Given the description of an element on the screen output the (x, y) to click on. 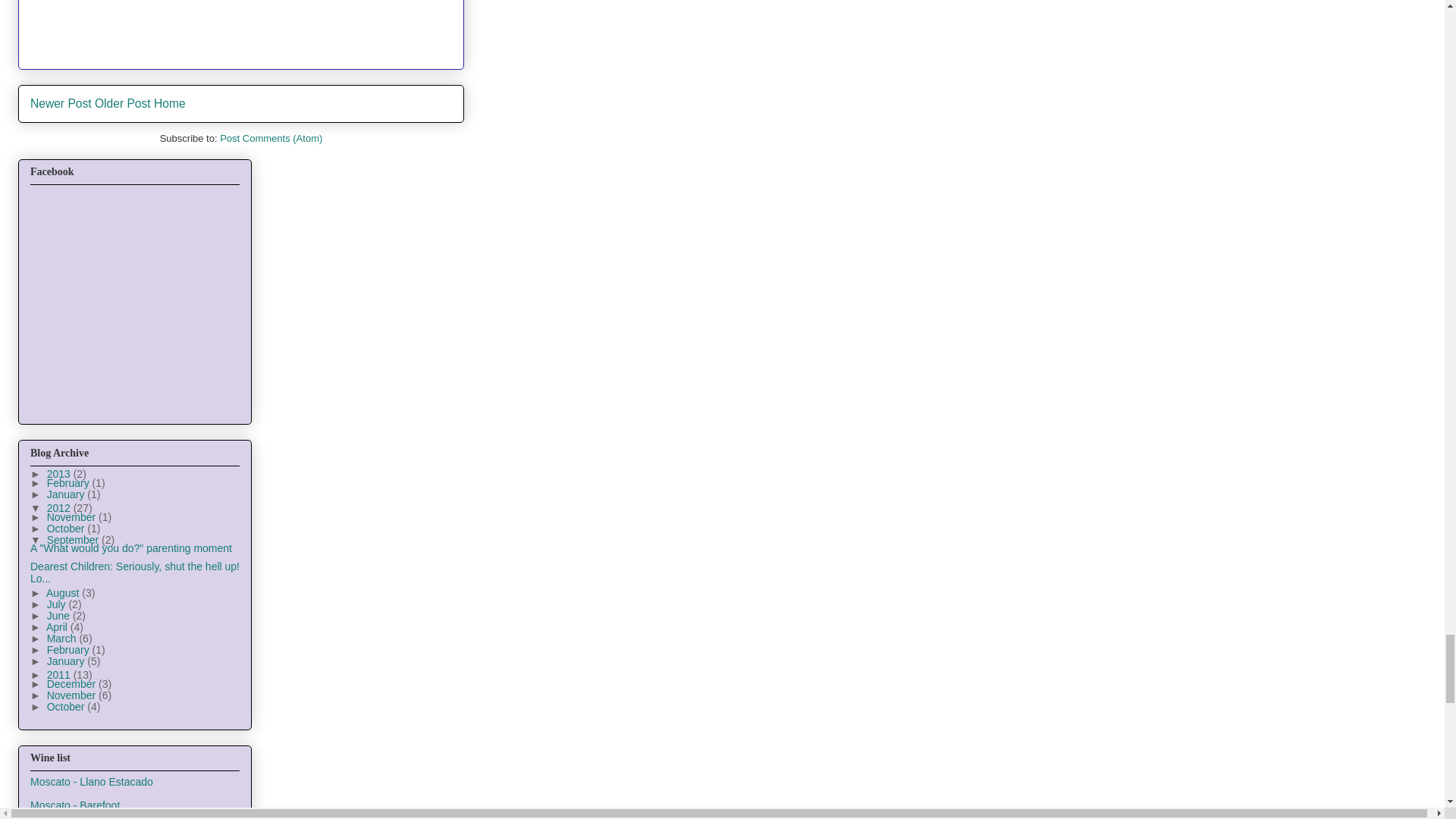
Newer Post (60, 103)
Older Post (122, 103)
